Given the description of an element on the screen output the (x, y) to click on. 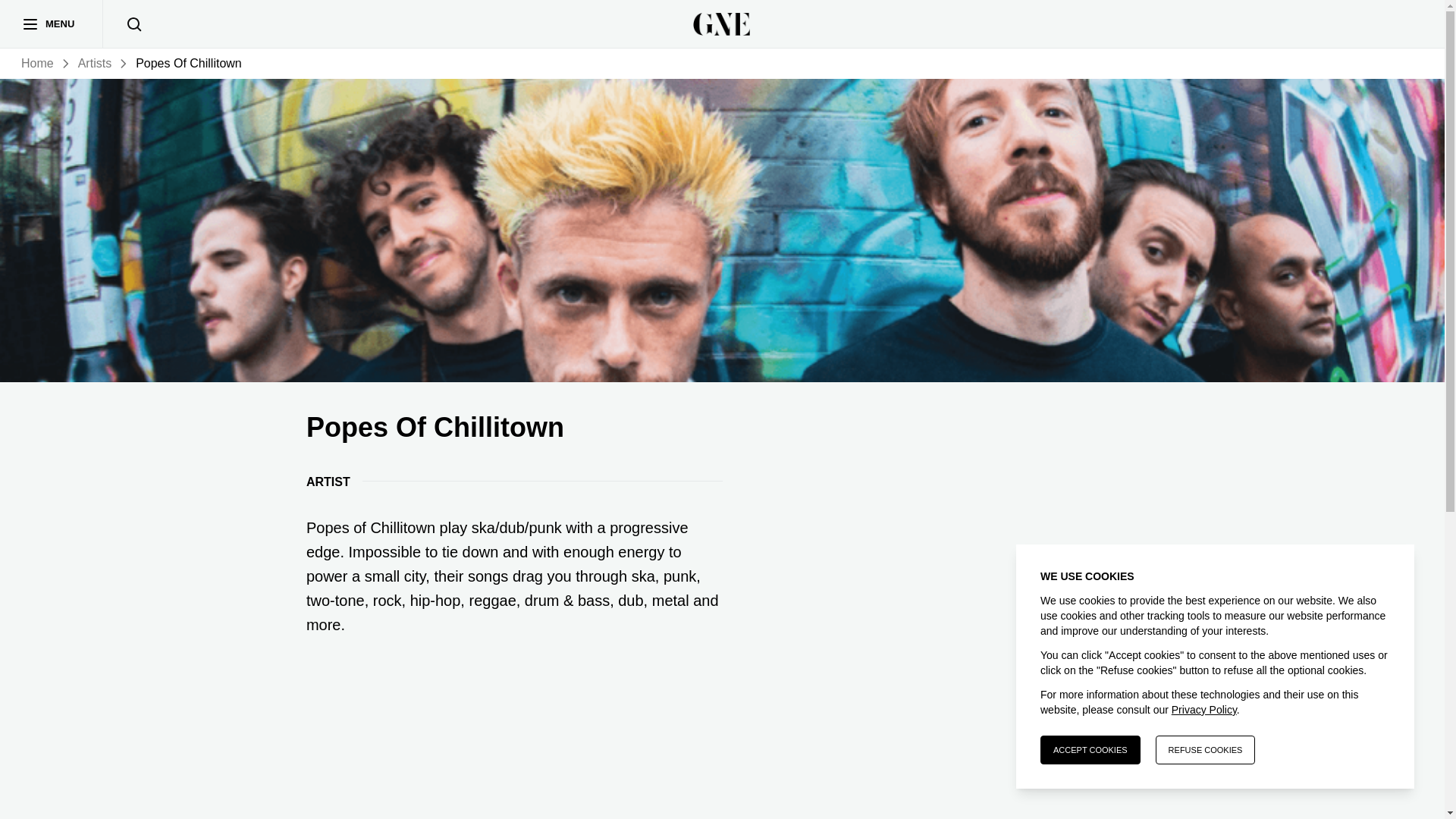
Artists (95, 63)
Open main menu (30, 24)
Home (37, 63)
Privacy Policy (1204, 709)
